Given the description of an element on the screen output the (x, y) to click on. 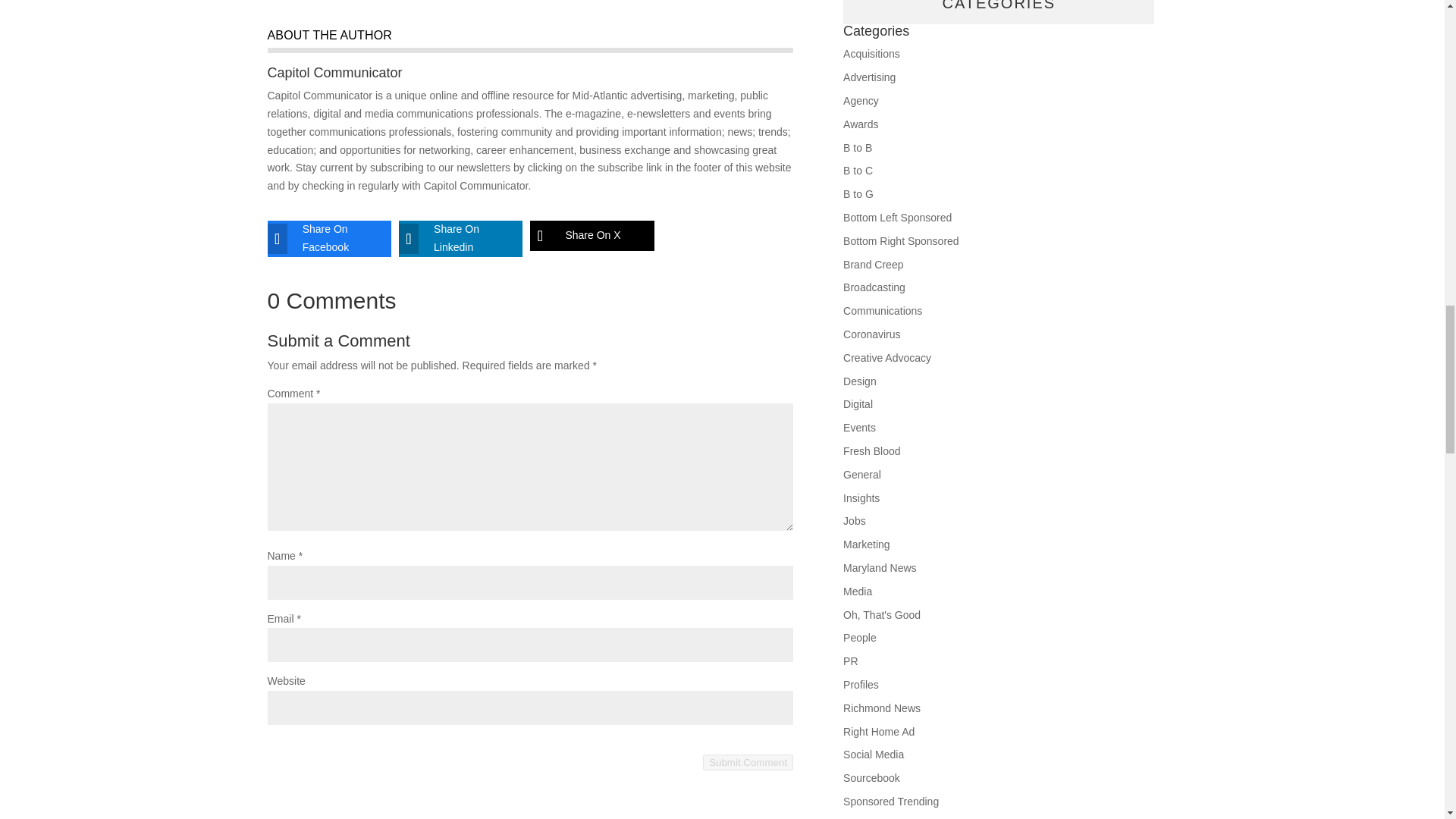
Share On Facebook (317, 238)
Share On X (579, 235)
Share On Linkedin (448, 238)
Submit Comment (748, 762)
